Given the description of an element on the screen output the (x, y) to click on. 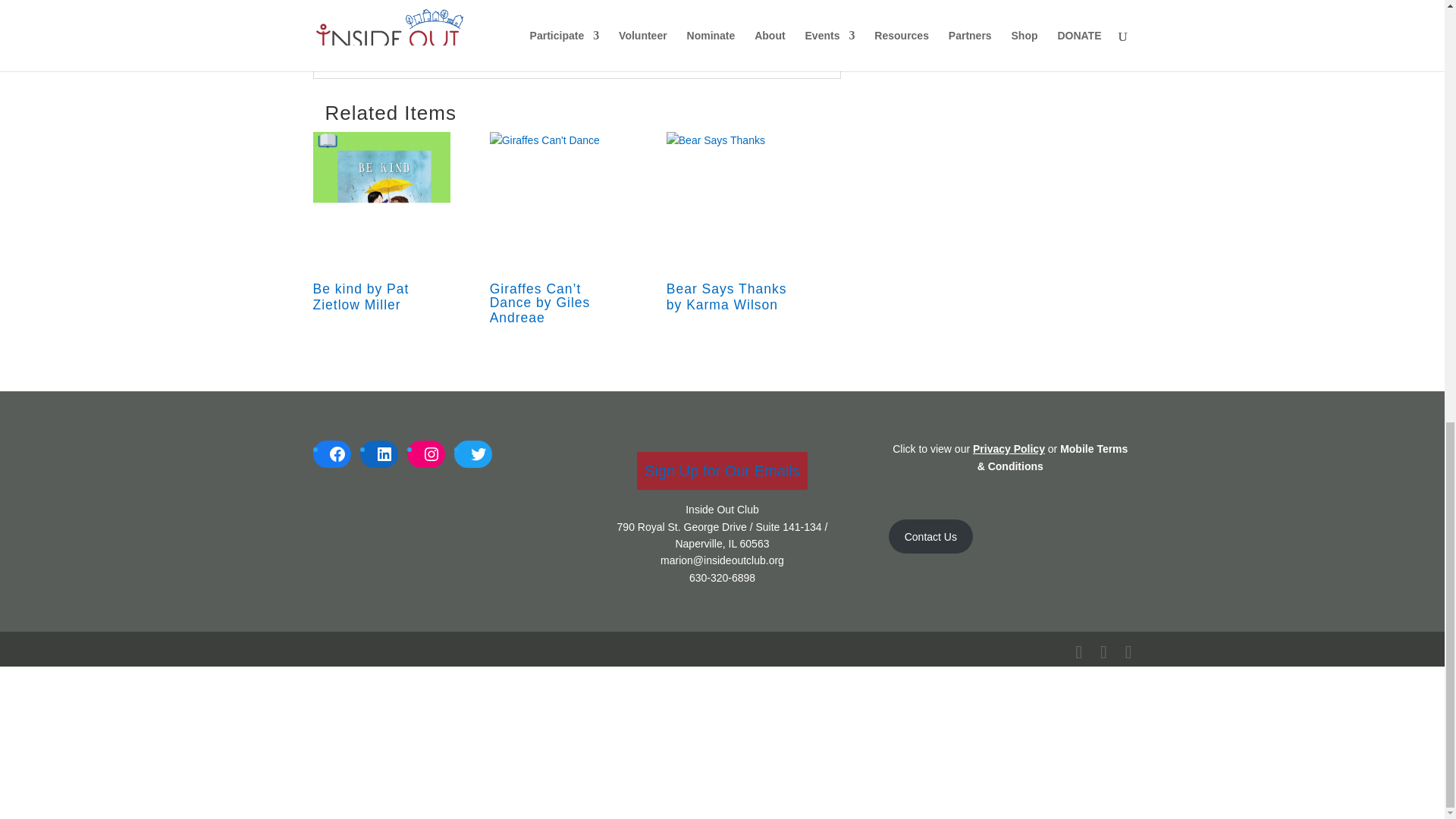
Learn how your comment data is processed (625, 46)
Submit (776, 19)
Submit (776, 19)
